Given the description of an element on the screen output the (x, y) to click on. 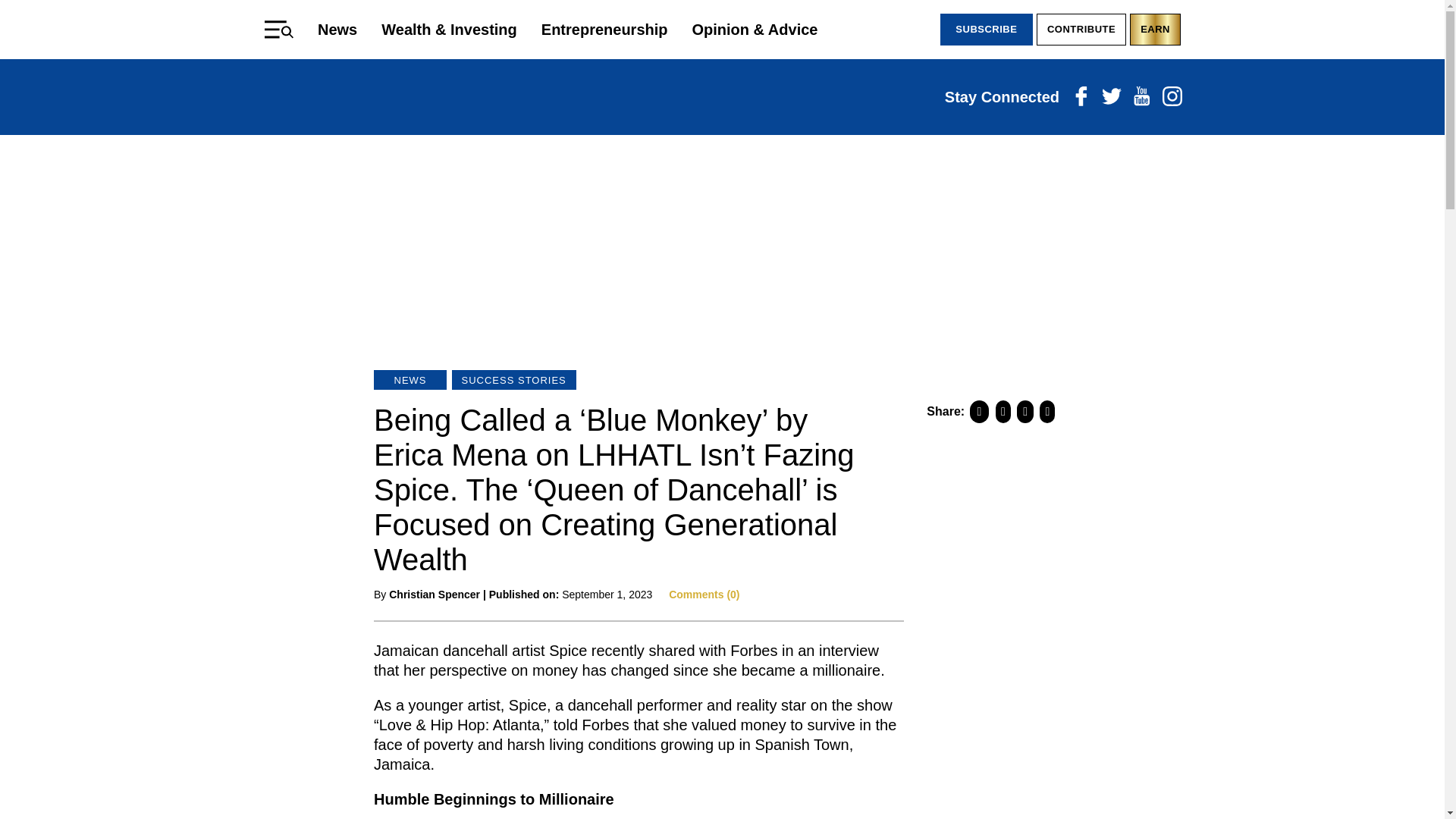
Finurah (722, 96)
Entrepreneurship (604, 29)
CONTRIBUTE (1080, 29)
Facebook (1080, 96)
Christian Spencer (434, 594)
News (336, 29)
NEWS (410, 379)
SUCCESS STORIES (513, 379)
EARN (1154, 29)
Primary Menu (279, 29)
SUBSCRIBE (986, 29)
Instagram (1170, 96)
Youtube (1141, 96)
Twitter (1110, 96)
